Given the description of an element on the screen output the (x, y) to click on. 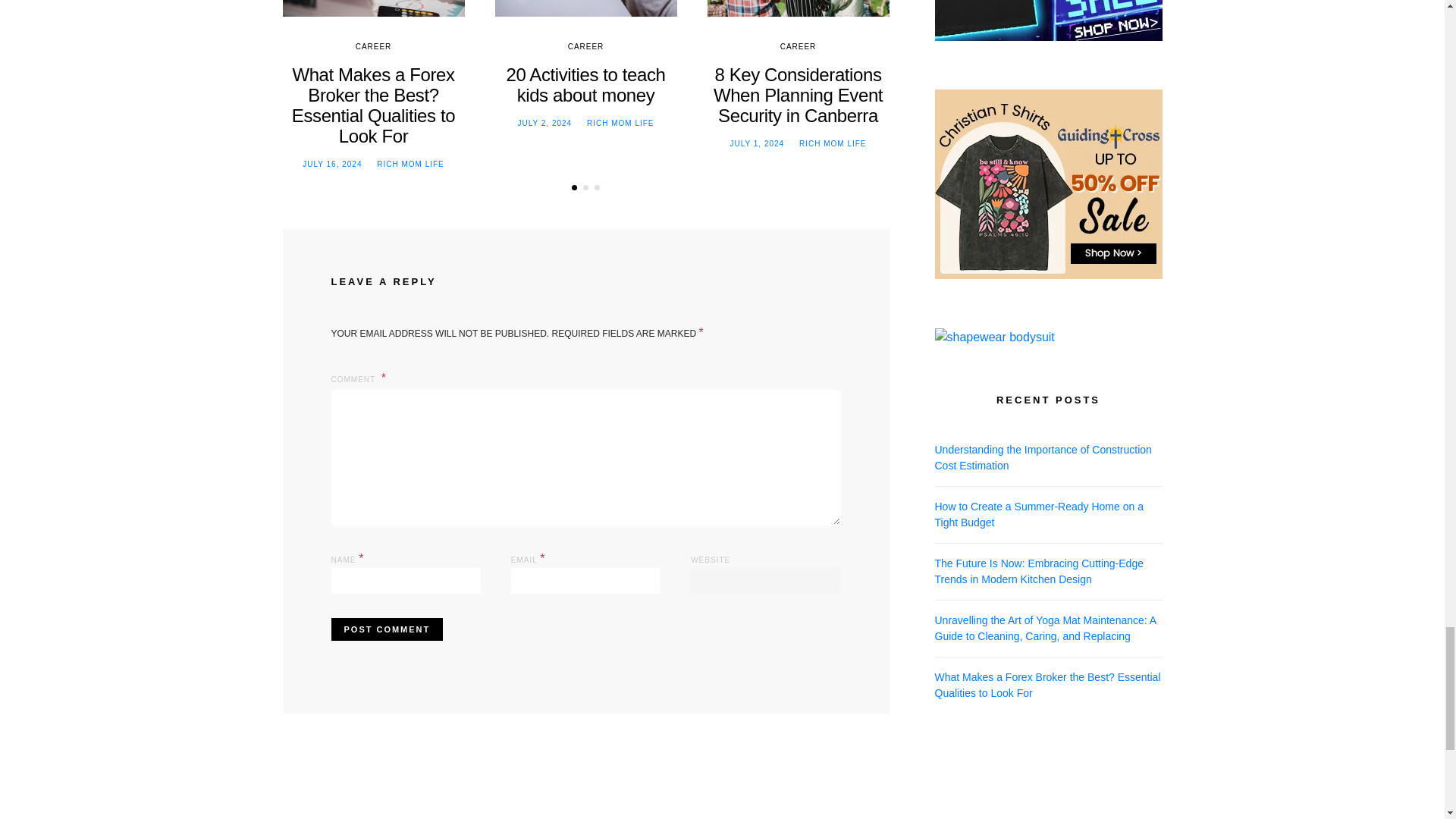
Post Comment (386, 629)
View all posts by Rich Mom Life (410, 163)
View all posts by Rich Mom Life (832, 143)
View all posts by Rich Mom Life (619, 122)
